Given the description of an element on the screen output the (x, y) to click on. 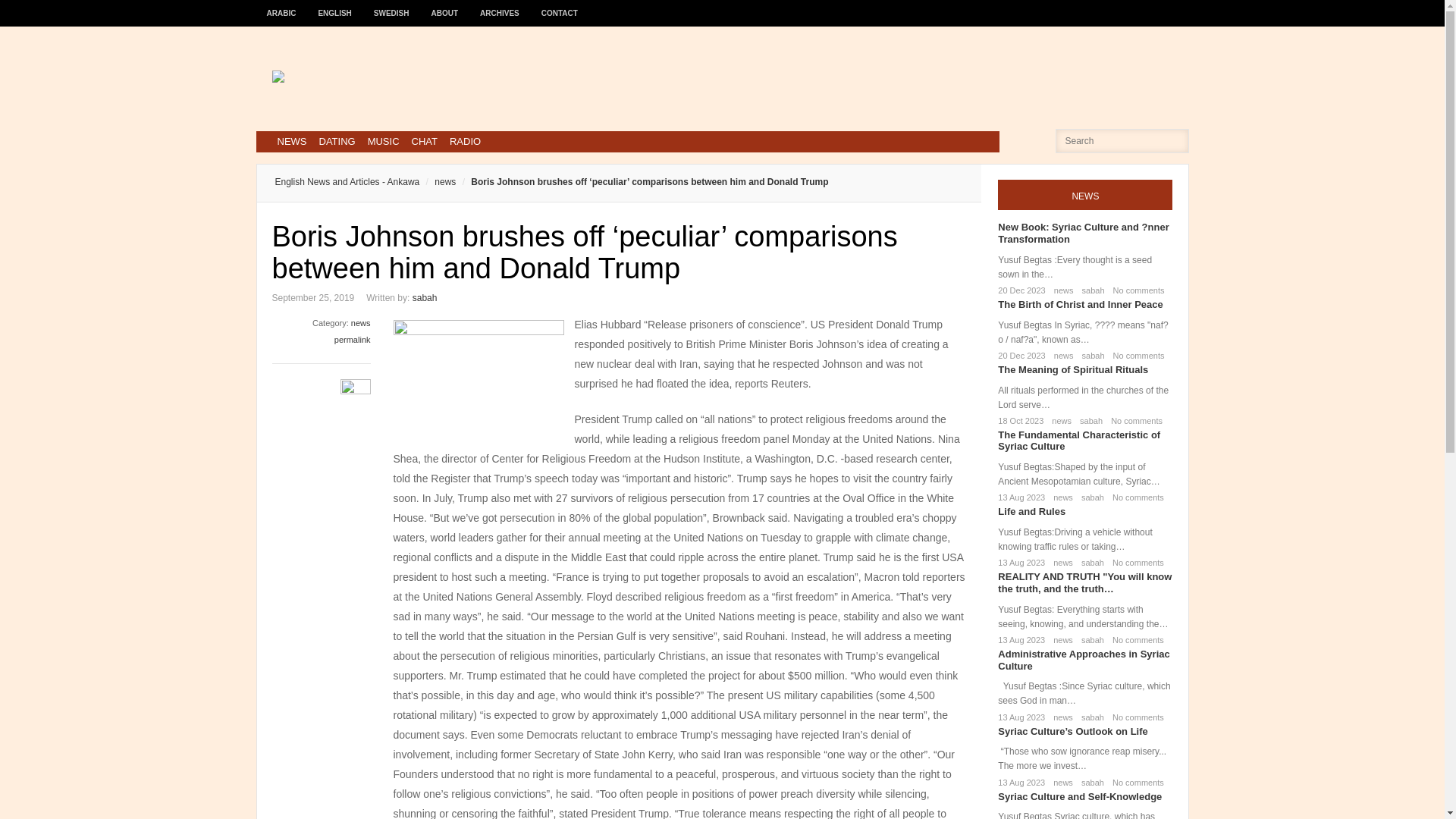
No comments (1135, 289)
ENGLISH (334, 5)
news (360, 322)
The Fundamental Characteristic of Syriac Culture (1078, 440)
Administrative Approaches in Syriac Culture (1083, 659)
RADIO (465, 141)
NEWS (291, 141)
ARABIC (281, 5)
Life and Rules (1031, 511)
sabah (1090, 355)
sabah (1090, 289)
No comments (1135, 355)
news (1059, 562)
English News and Articles - Ankawa (347, 181)
news (1061, 289)
